Given the description of an element on the screen output the (x, y) to click on. 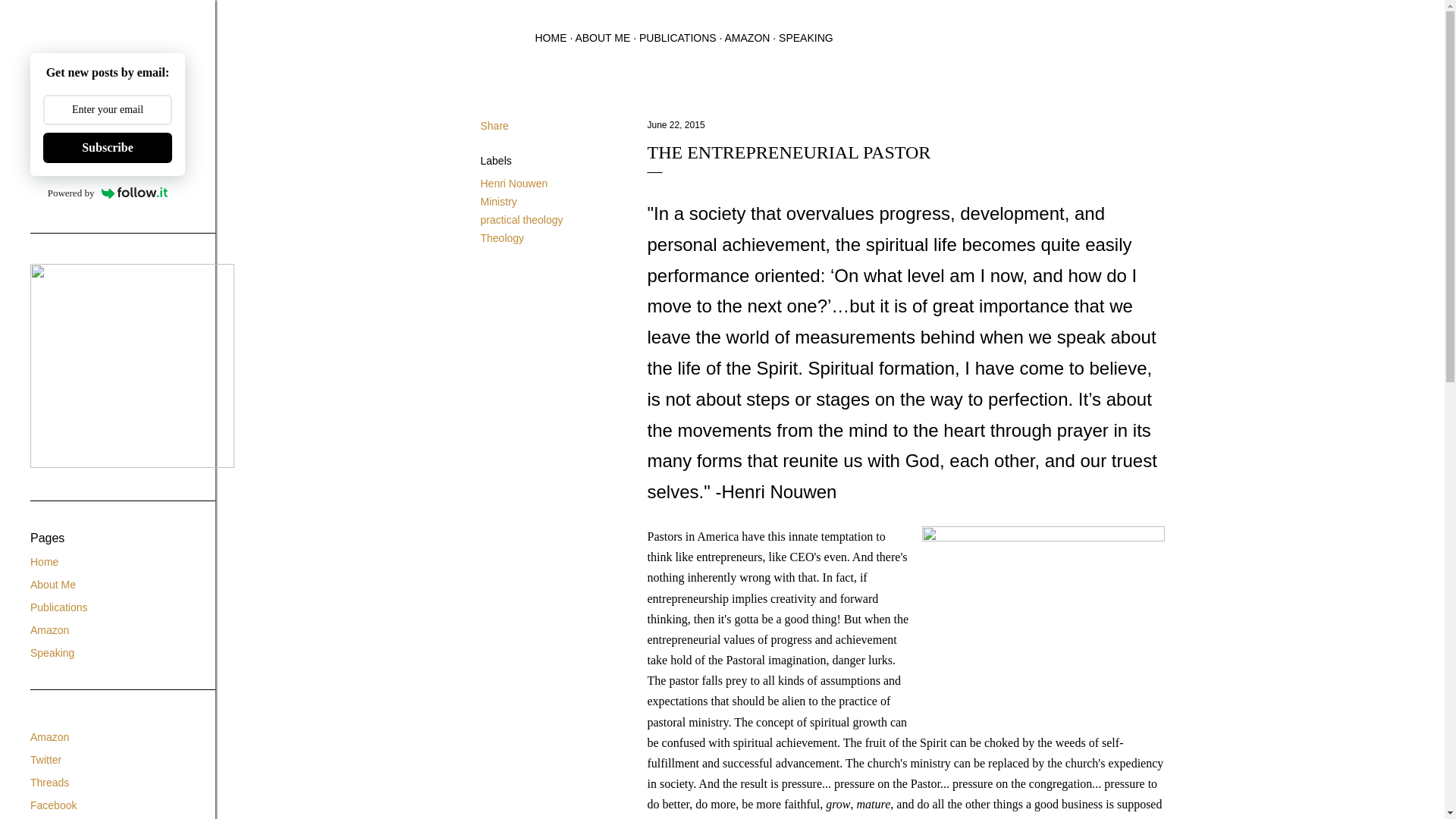
About Me (52, 584)
permanent link (675, 124)
ABOUT ME (602, 37)
Amazon (49, 630)
practical theology (521, 219)
SPEAKING (805, 37)
Subscribe (107, 147)
AMAZON (747, 37)
Ministry (498, 201)
HOME (551, 37)
June 22, 2015 (675, 124)
Twitter (45, 759)
PUBLICATIONS (677, 37)
Amazon (49, 736)
Powered by (107, 192)
